Given the description of an element on the screen output the (x, y) to click on. 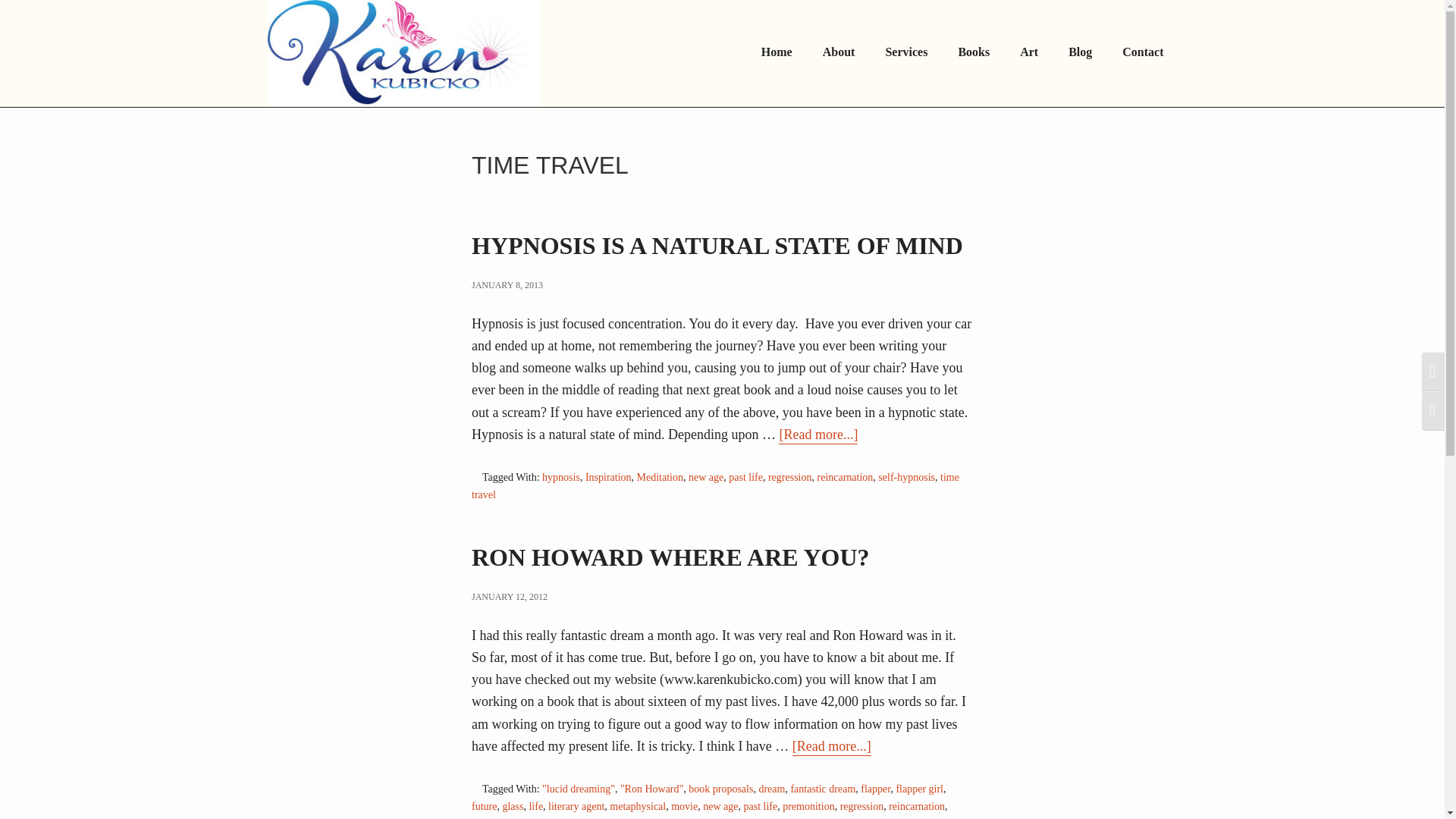
past life (745, 478)
fantastic dream (823, 789)
Contact (1142, 53)
Services (905, 53)
hypnosis (560, 478)
book proposals (720, 789)
Art (1028, 53)
"lucid dreaming" (577, 789)
regression (790, 478)
Books (973, 53)
